Given the description of an element on the screen output the (x, y) to click on. 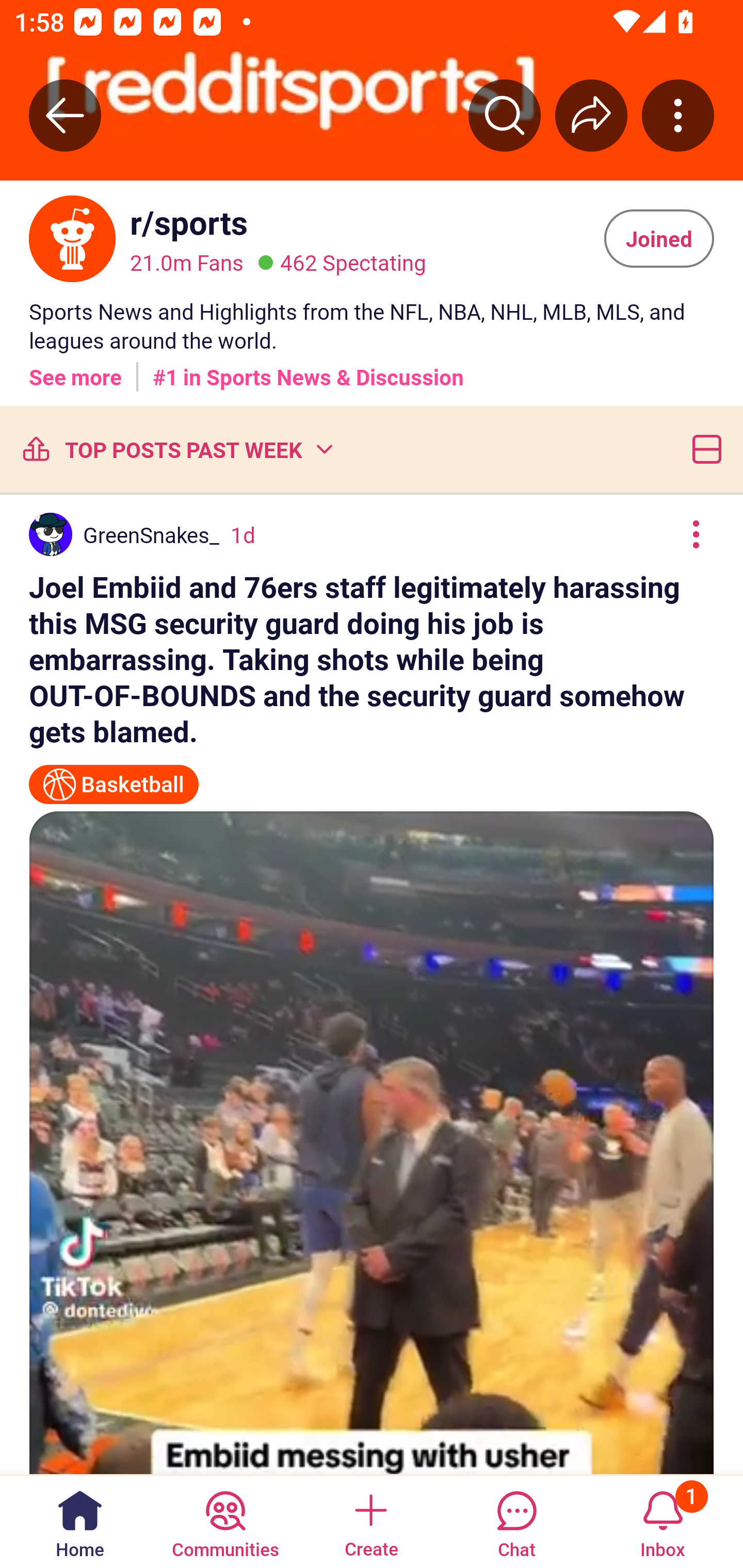
Back (64, 115)
Search r/﻿sports (504, 115)
Share r/﻿sports (591, 115)
More community actions (677, 115)
Top posts TOP POSTS PAST WEEK (176, 449)
Card (703, 449)
￼ Basketball (113, 775)
Home (80, 1520)
Communities (225, 1520)
Create a post Create (370, 1520)
Chat (516, 1520)
Inbox, has 1 notification 1 Inbox (662, 1520)
